Given the description of an element on the screen output the (x, y) to click on. 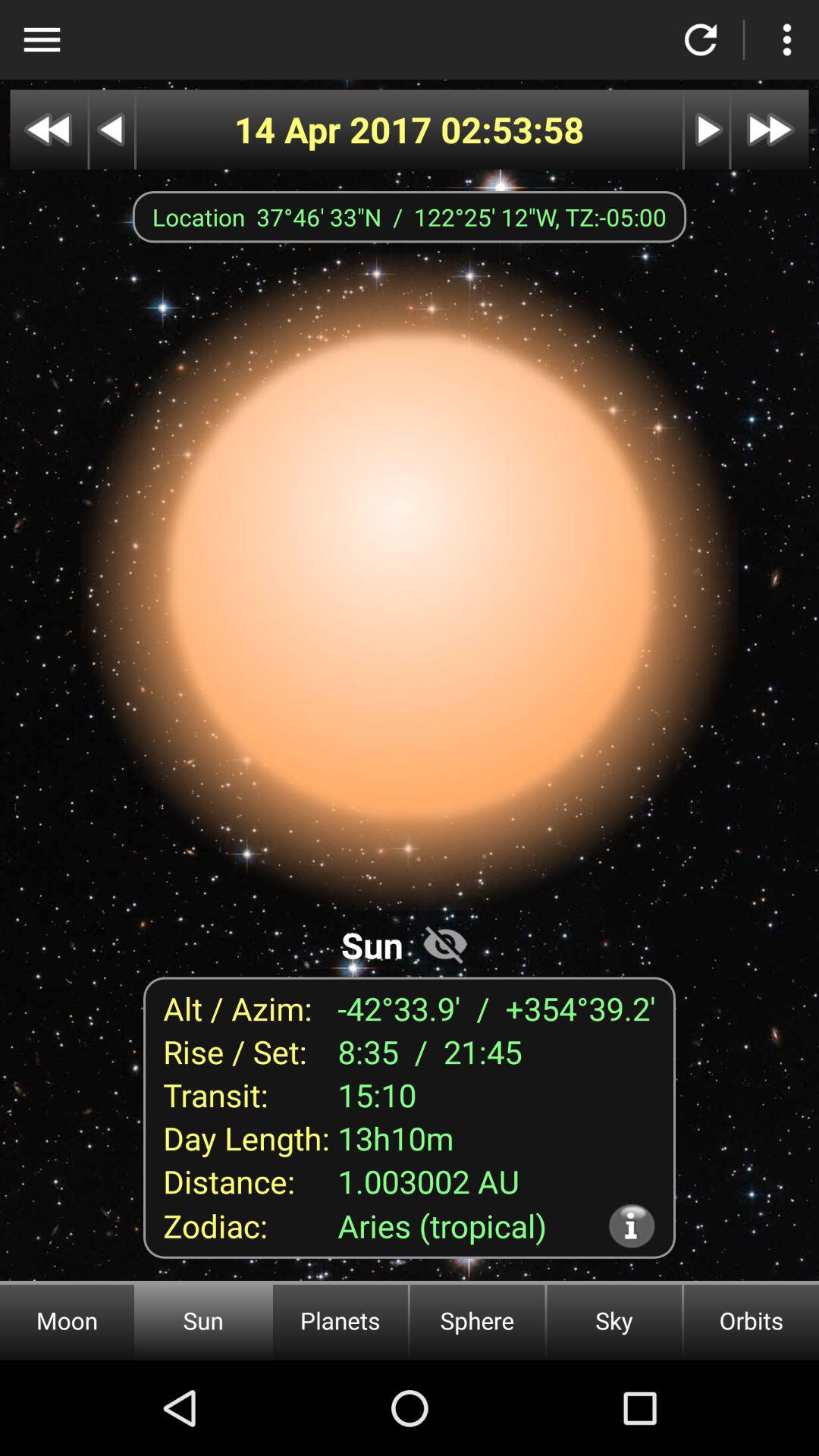
press item to the right of the aries (tropical) app (631, 1225)
